Given the description of an element on the screen output the (x, y) to click on. 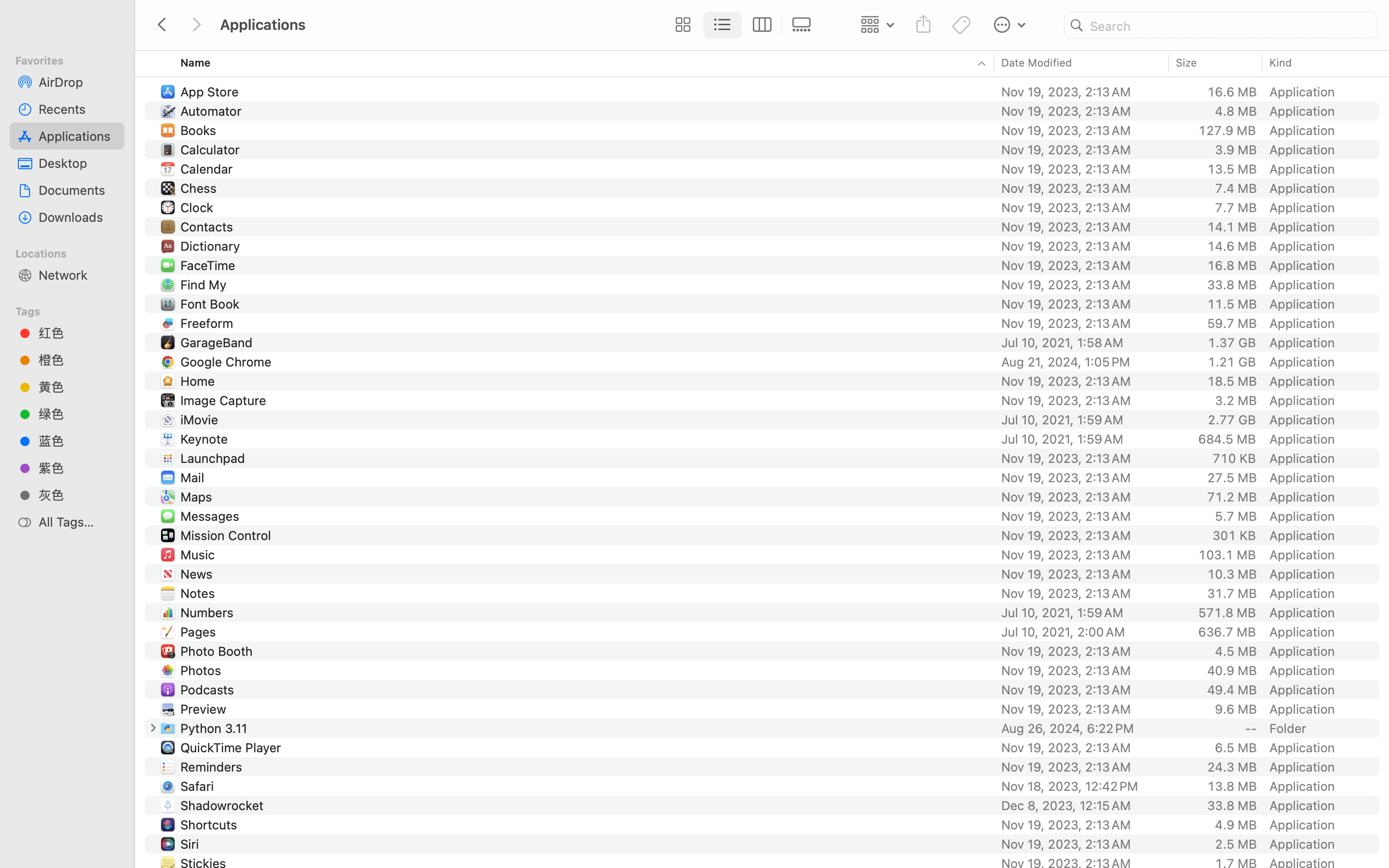
紫色 Element type: AXStaticText (77, 467)
1 Element type: AXRadioButton (722, 24)
橙色 Element type: AXStaticText (77, 359)
14.6 MB Element type: AXStaticText (1231, 245)
Python 3.11 Element type: AXTextField (215, 727)
